Given the description of an element on the screen output the (x, y) to click on. 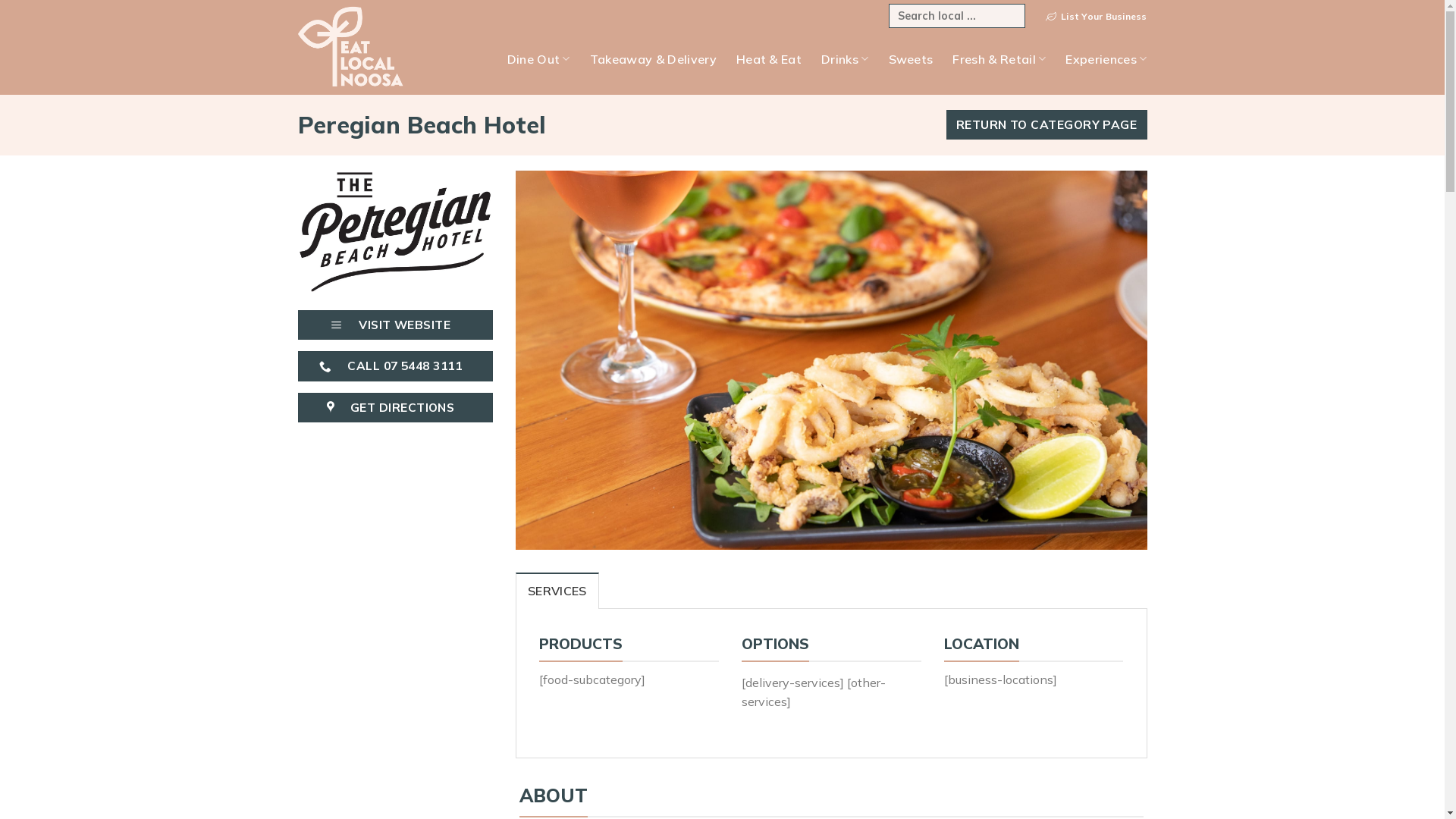
Fresh & Retail Element type: text (998, 57)
GET DIRECTIONS Element type: text (394, 407)
CALL 07 5448 3111 Element type: text (394, 365)
List Your Business Element type: text (1096, 15)
Skip to content Element type: text (0, 0)
Sweets Element type: text (910, 57)
SERVICES Element type: text (557, 590)
RETURN TO CATEGORY PAGE Element type: text (1046, 124)
Takeaway & Delivery Element type: text (652, 57)
Heat & Eat Element type: text (768, 57)
Dine Out Element type: text (538, 57)
Experiences Element type: text (1105, 57)
Drinks Element type: text (844, 57)
VISIT WEBSITE Element type: text (394, 324)
